Given the description of an element on the screen output the (x, y) to click on. 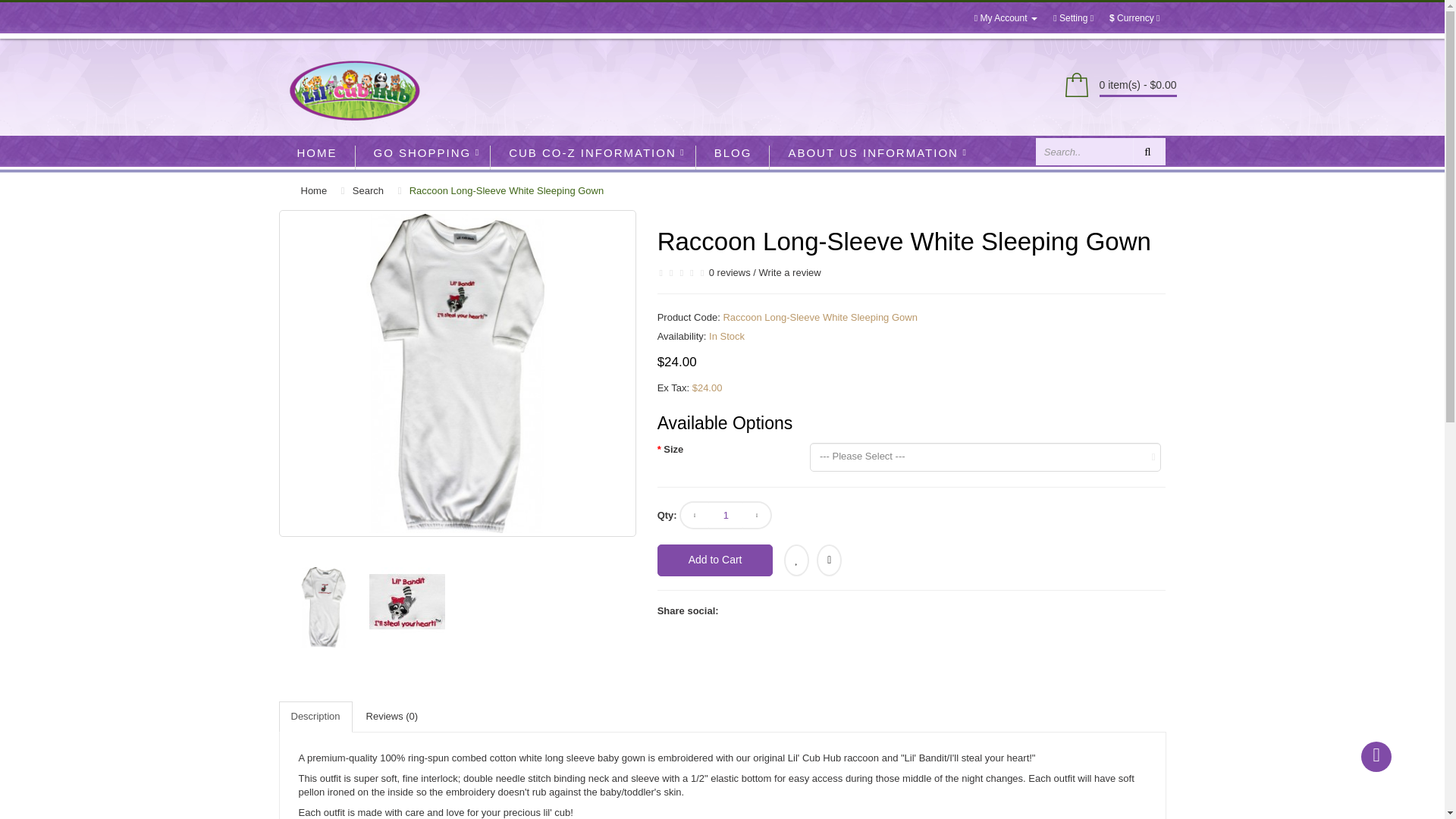
Raccoon Long-Sleeve White Sleeping Gown (412, 601)
1 (725, 515)
HOME (317, 152)
CUB CO-Z INFORMATION (592, 152)
My Account (1005, 18)
My Account (1005, 18)
GO SHOPPING (422, 152)
BLOG (732, 152)
ABOUT US INFORMATION (873, 152)
Raccoon Long-Sleeve White Sleeping Gown (456, 373)
